Given the description of an element on the screen output the (x, y) to click on. 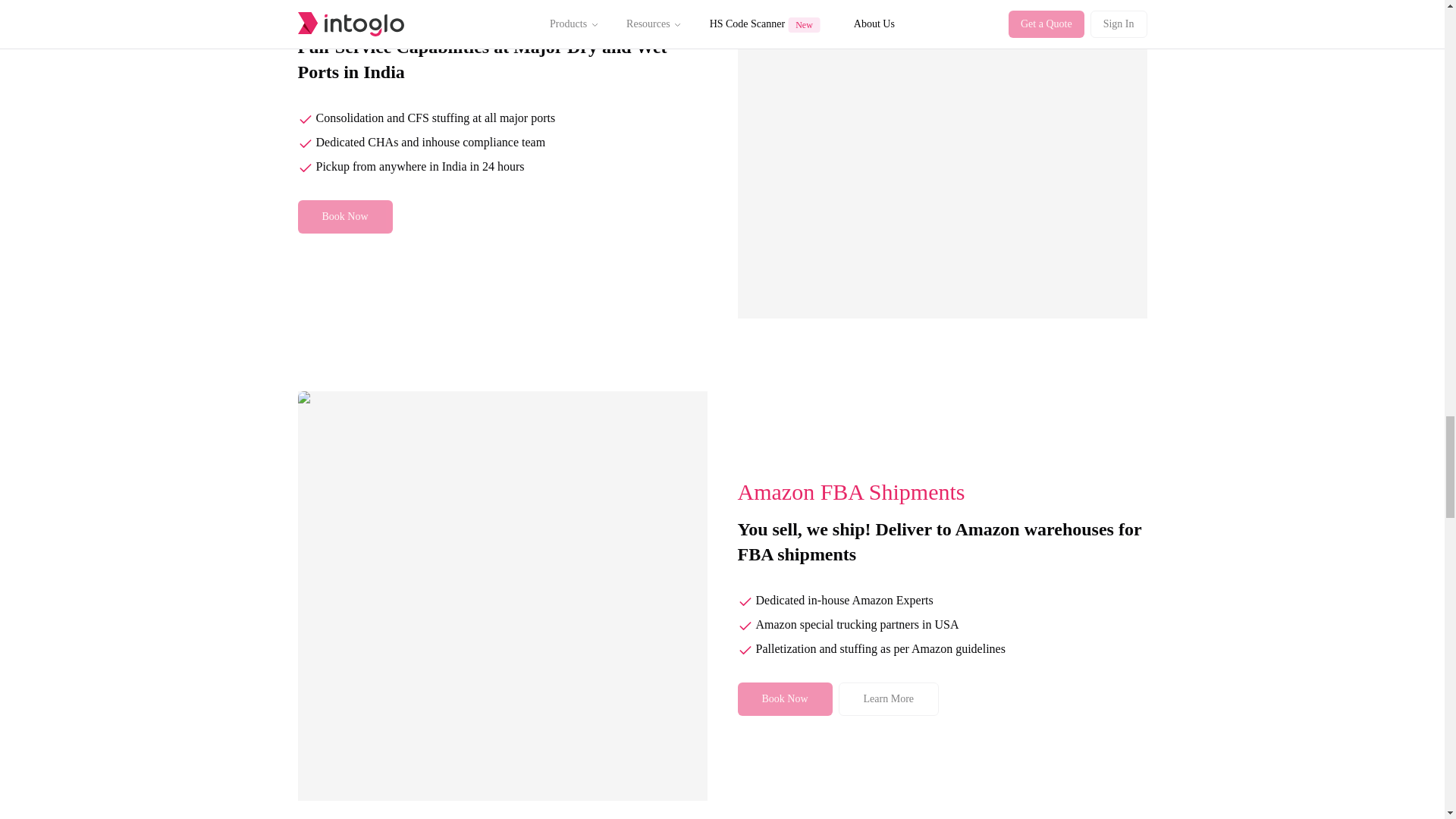
Book Now (783, 698)
Learn More (888, 698)
Book Now (344, 216)
